Given the description of an element on the screen output the (x, y) to click on. 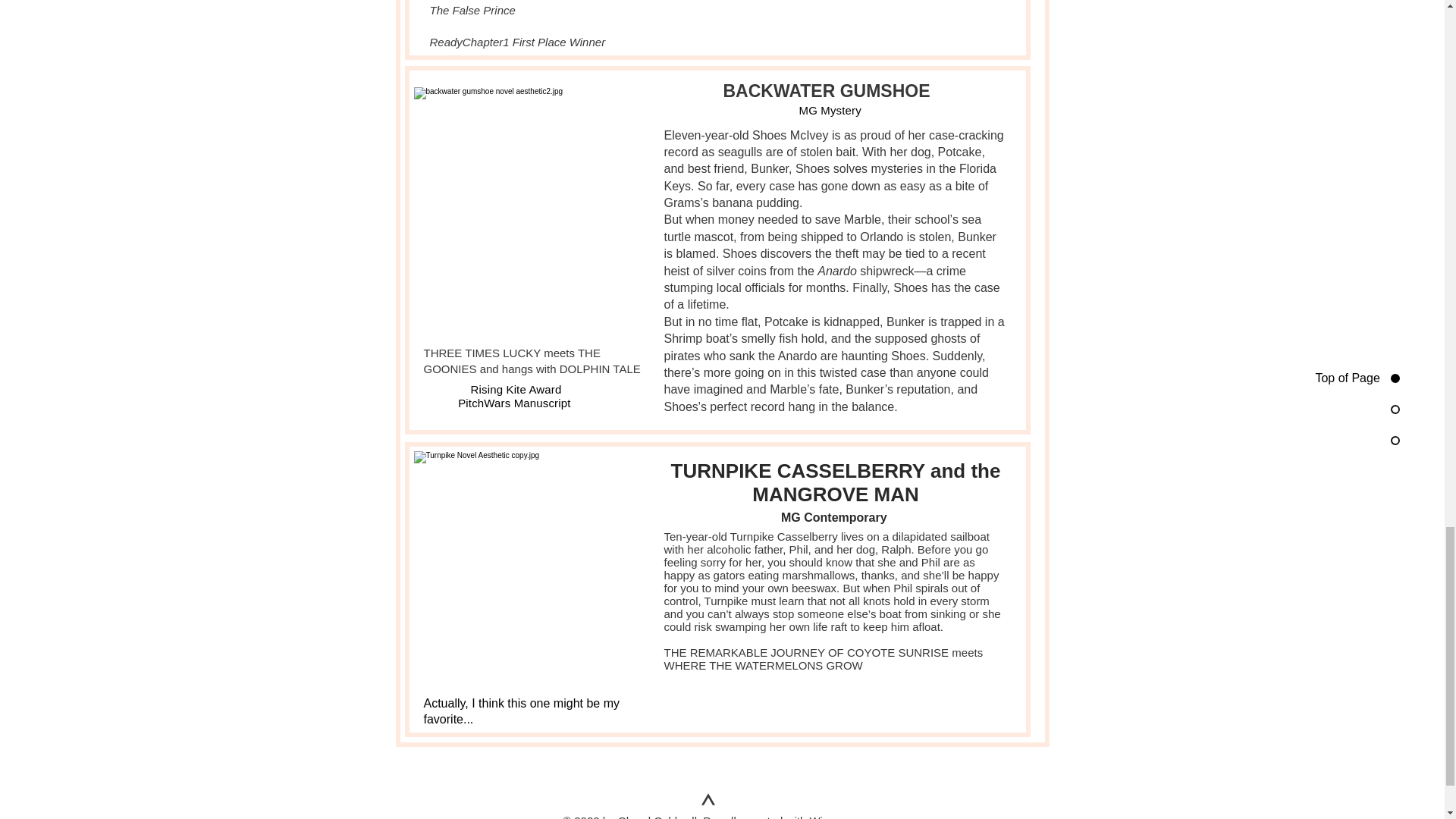
Wix.com (831, 816)
